Given the description of an element on the screen output the (x, y) to click on. 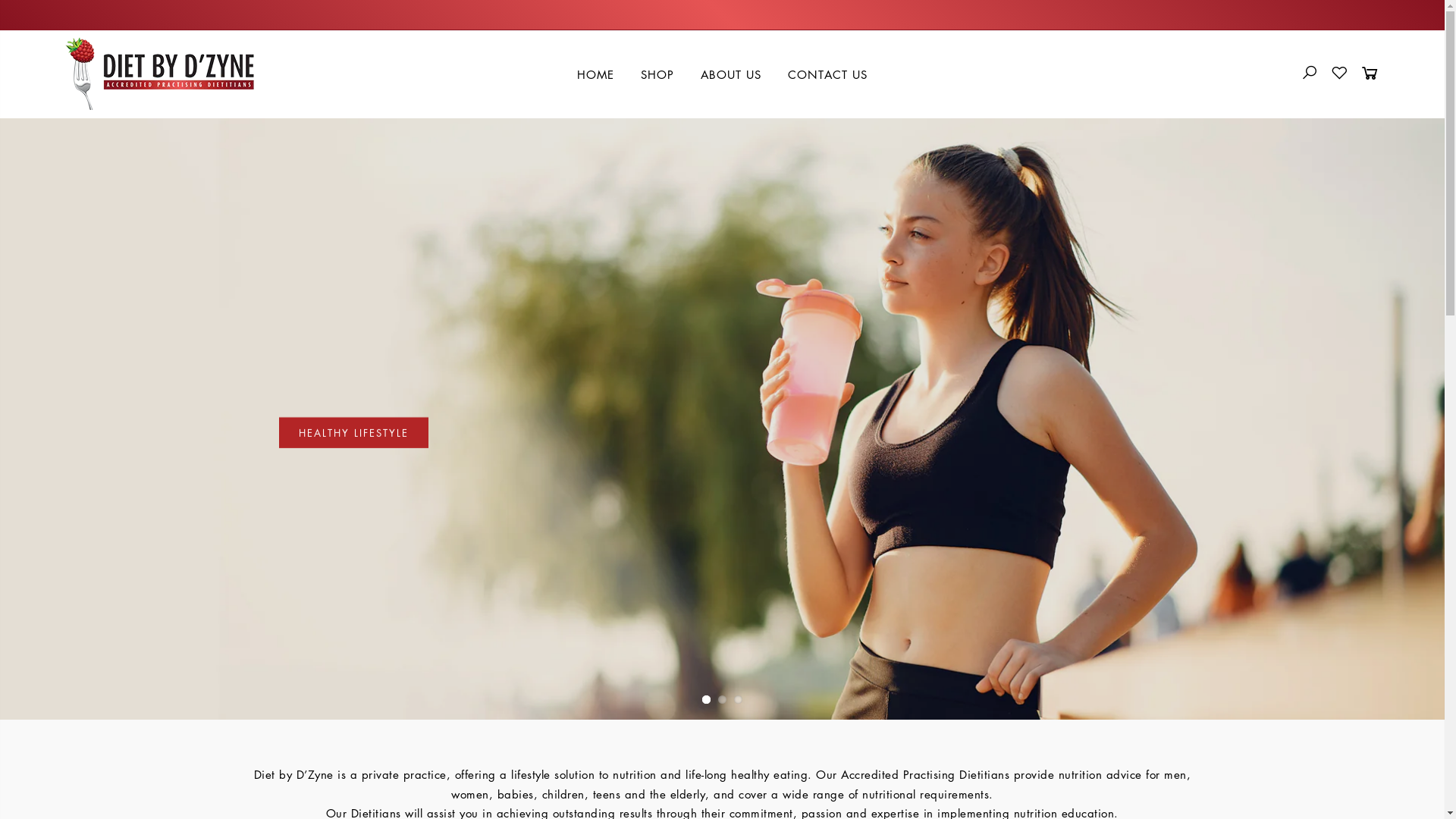
HEALTHY LIFESTYLE Element type: text (353, 432)
CONTACT US Element type: text (828, 73)
SHOP Element type: text (657, 73)
ABOUT US Element type: text (730, 73)
HOME Element type: text (595, 73)
